Given the description of an element on the screen output the (x, y) to click on. 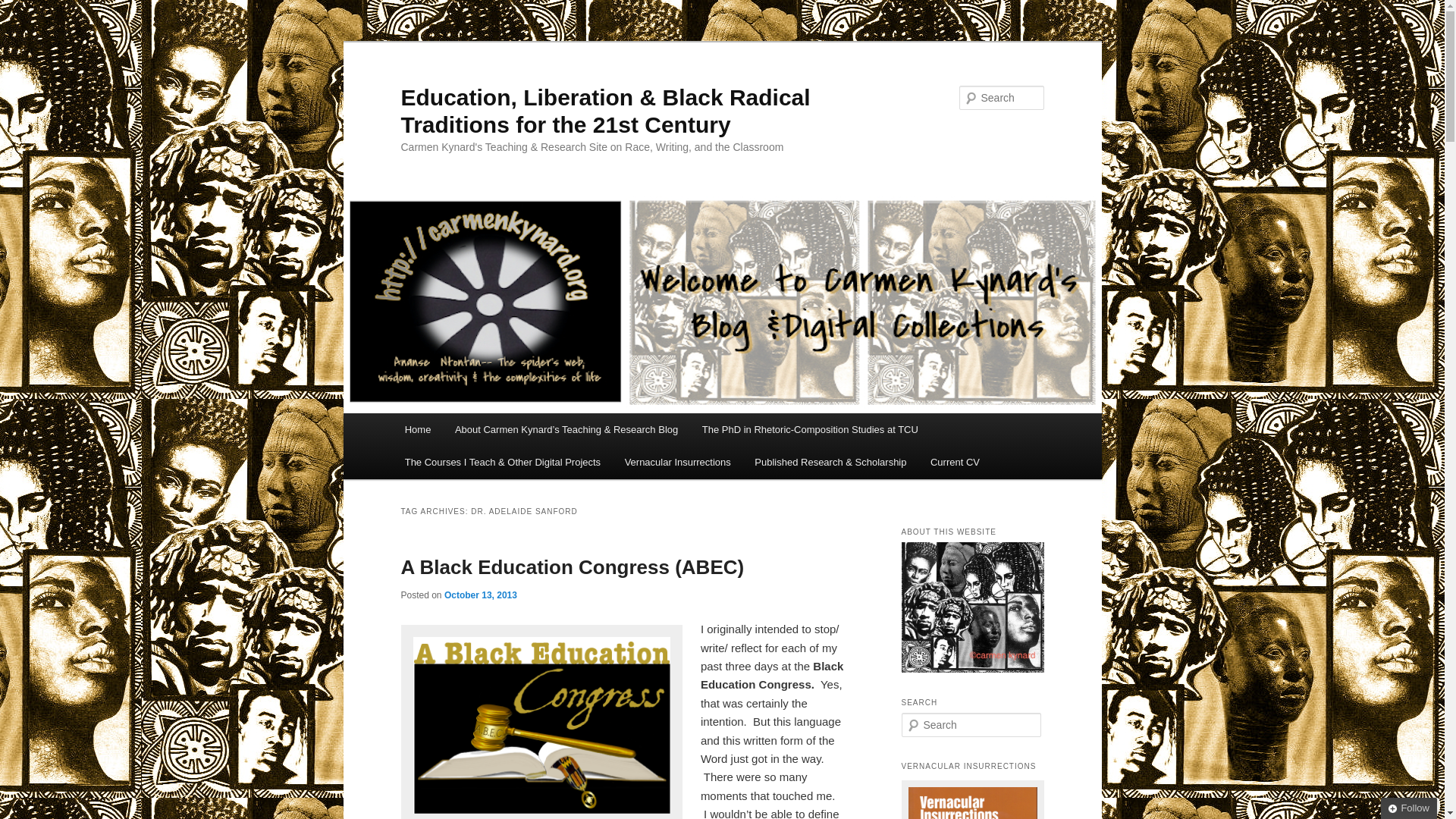
Search (24, 8)
The PhD in Rhetoric-Composition Studies at TCU (810, 429)
9:29 am (480, 594)
Home (417, 429)
Current CV (954, 461)
Vernacular Insurrections (677, 461)
October 13, 2013 (480, 594)
